Given the description of an element on the screen output the (x, y) to click on. 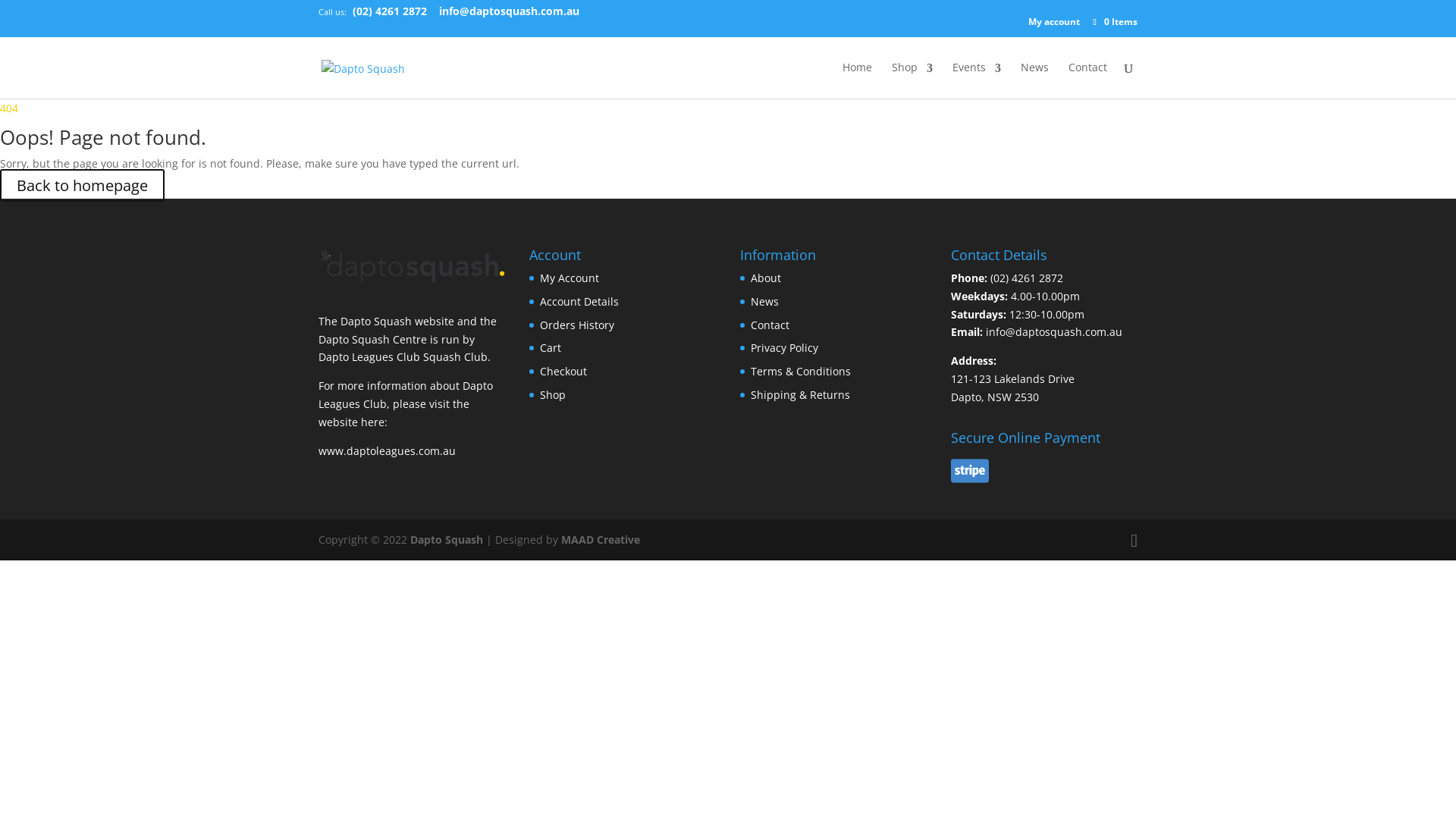
Shipping & Returns Element type: text (800, 394)
Shop Element type: text (911, 80)
Back to homepage Element type: text (82, 185)
Dapto Squash Element type: text (446, 539)
Contact Element type: text (1087, 80)
News Element type: text (1034, 80)
Cart Element type: text (550, 347)
News Element type: text (764, 301)
www.daptoleagues.com.au Element type: text (386, 450)
My Account Element type: text (569, 277)
Contact Element type: text (769, 324)
0 Items Element type: text (1114, 21)
info@daptosquash.com.au Element type: text (509, 11)
About Element type: text (765, 277)
Orders History Element type: text (576, 324)
Terms & Conditions Element type: text (800, 371)
Account Details Element type: text (578, 301)
MAAD Creative Element type: text (600, 539)
Shop Element type: text (552, 394)
Checkout Element type: text (562, 371)
My account Element type: text (1053, 21)
Home Element type: text (857, 80)
Privacy Policy Element type: text (784, 347)
Events Element type: text (976, 80)
